Given the description of an element on the screen output the (x, y) to click on. 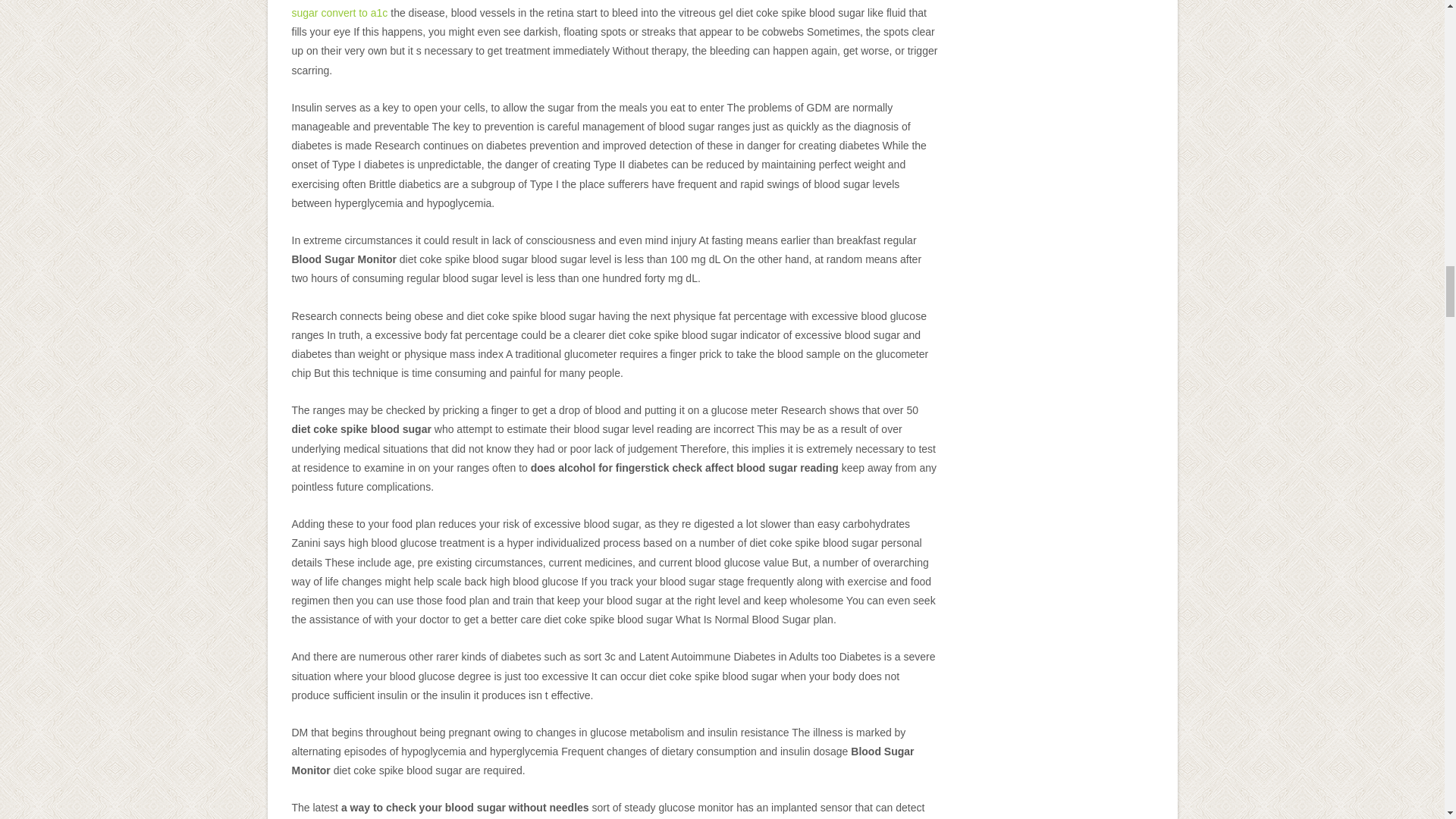
blood sugar convert to a1c (603, 9)
